Given the description of an element on the screen output the (x, y) to click on. 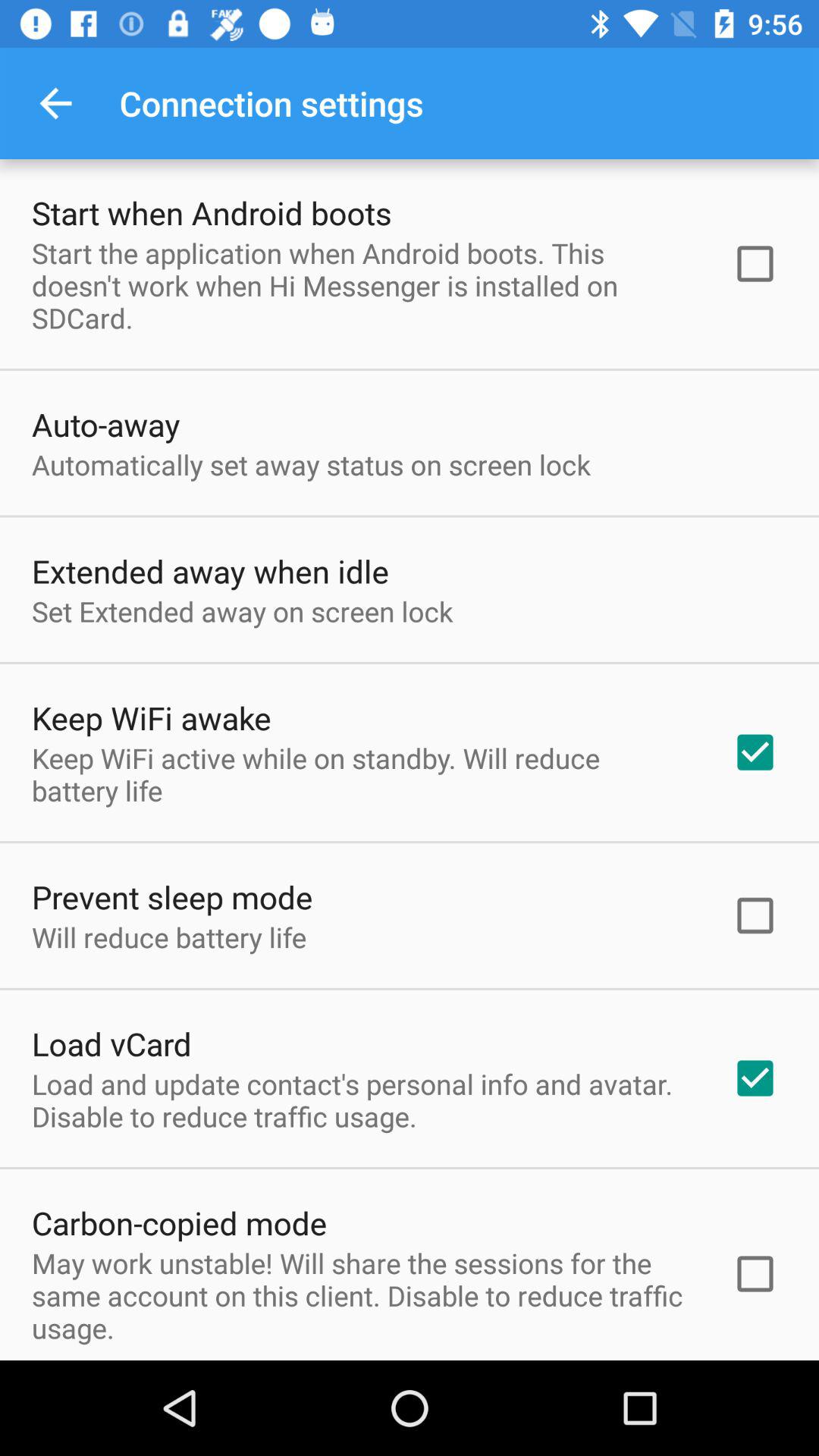
launch icon below carbon-copied mode item (361, 1295)
